Given the description of an element on the screen output the (x, y) to click on. 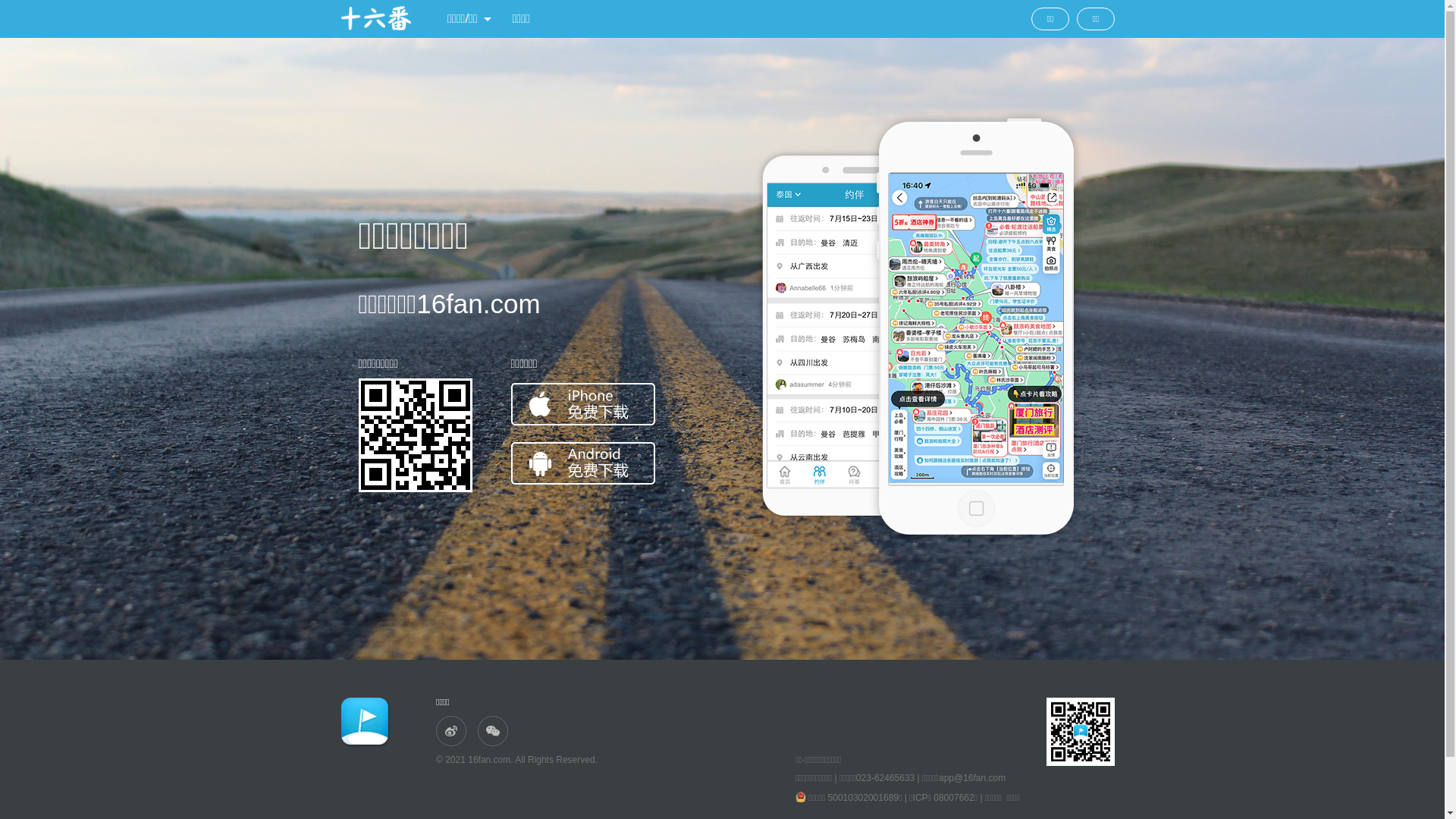
http://www.16fan.com/ Element type: hover (414, 435)
